Given the description of an element on the screen output the (x, y) to click on. 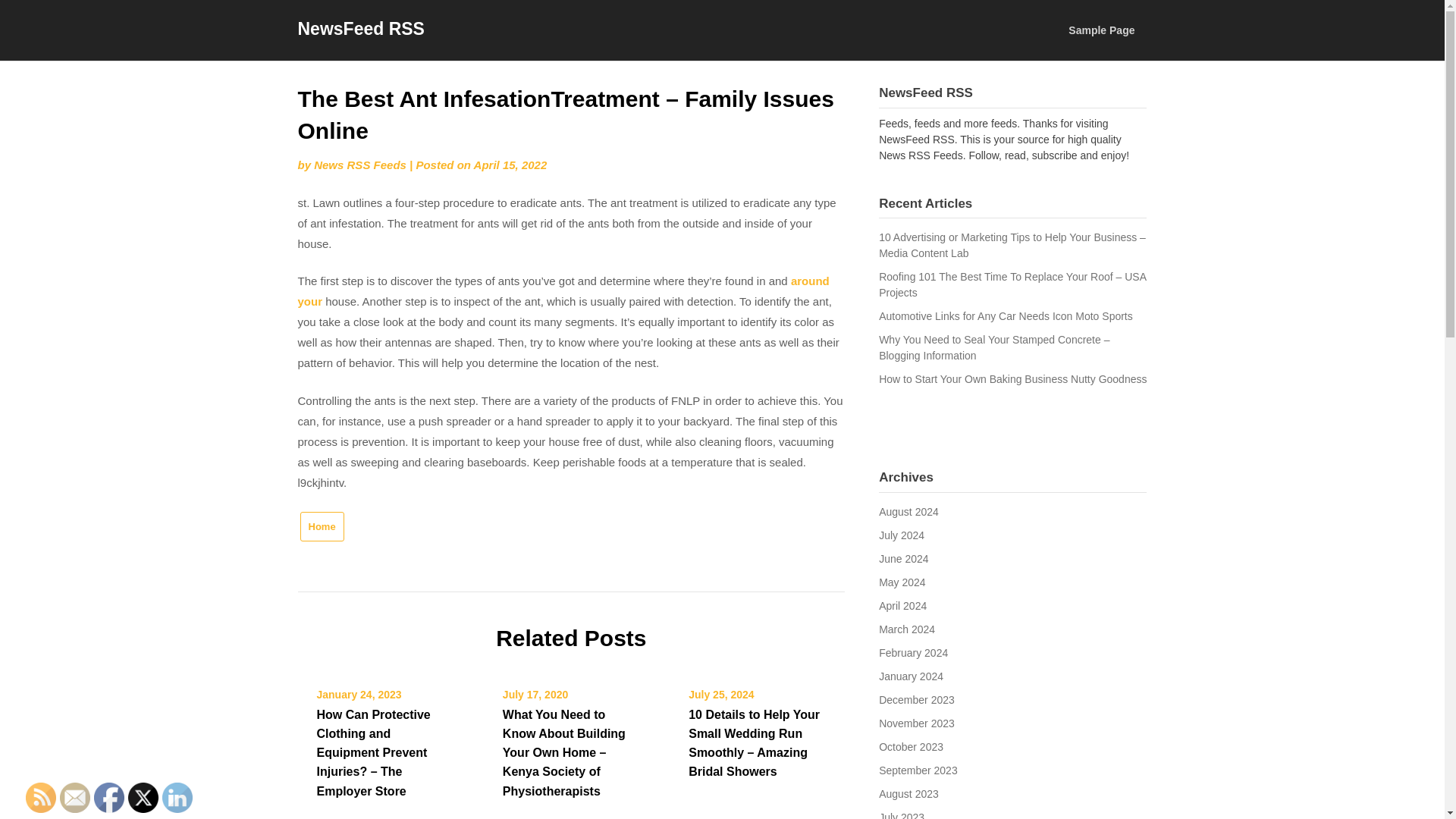
February 2024 (913, 653)
News RSS Feeds (360, 164)
July 2023 (901, 815)
March 2024 (906, 629)
August 2024 (909, 511)
October 2023 (911, 746)
Home (321, 526)
April 2024 (902, 605)
LinkedIn (176, 797)
Follow by Email (74, 797)
